Given the description of an element on the screen output the (x, y) to click on. 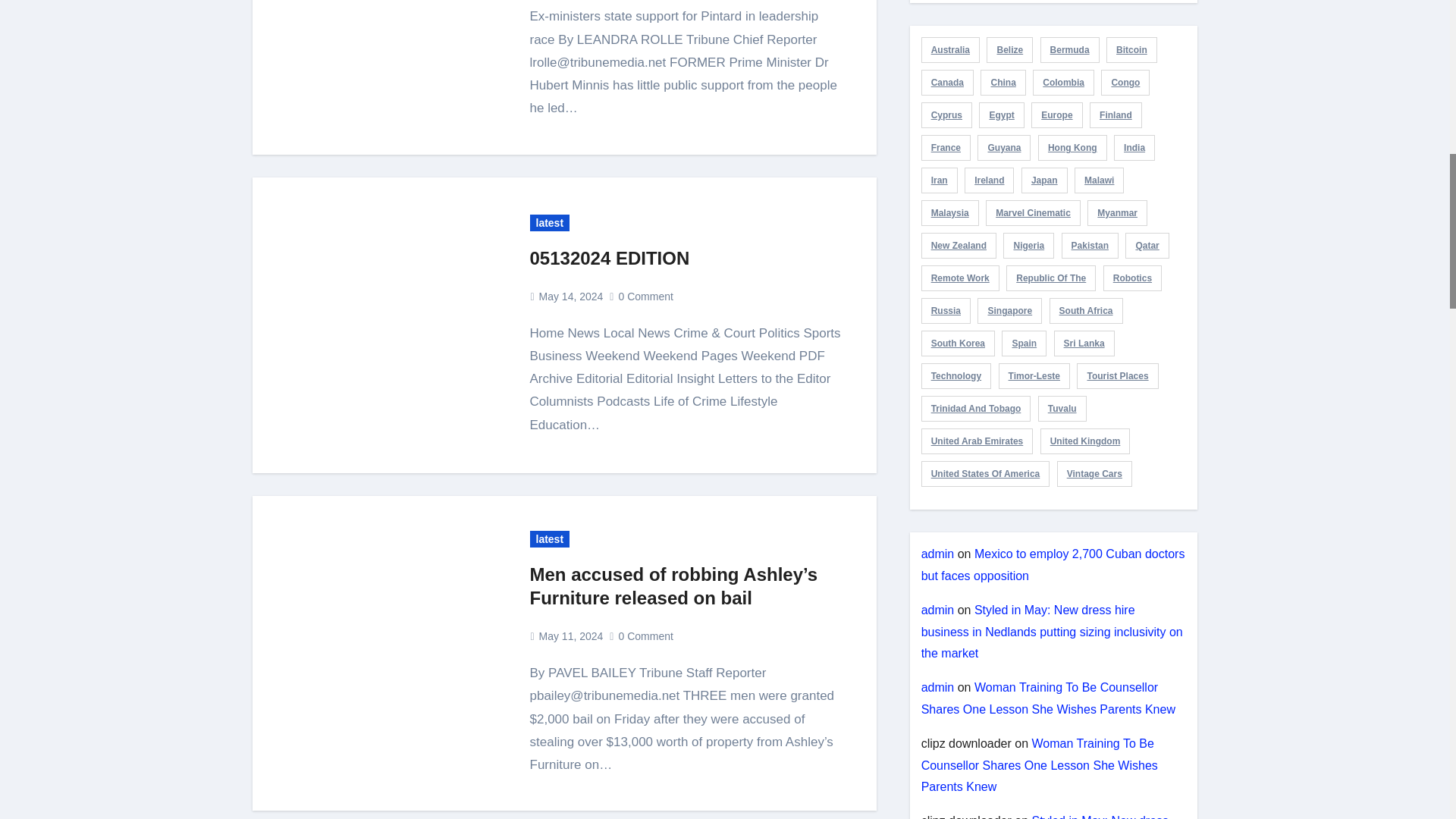
latest (549, 222)
latest (549, 538)
0Comment (646, 296)
May 11, 2024 (571, 635)
May 14, 2024 (571, 296)
0Comment (646, 635)
05132024 EDITION (608, 258)
